Given the description of an element on the screen output the (x, y) to click on. 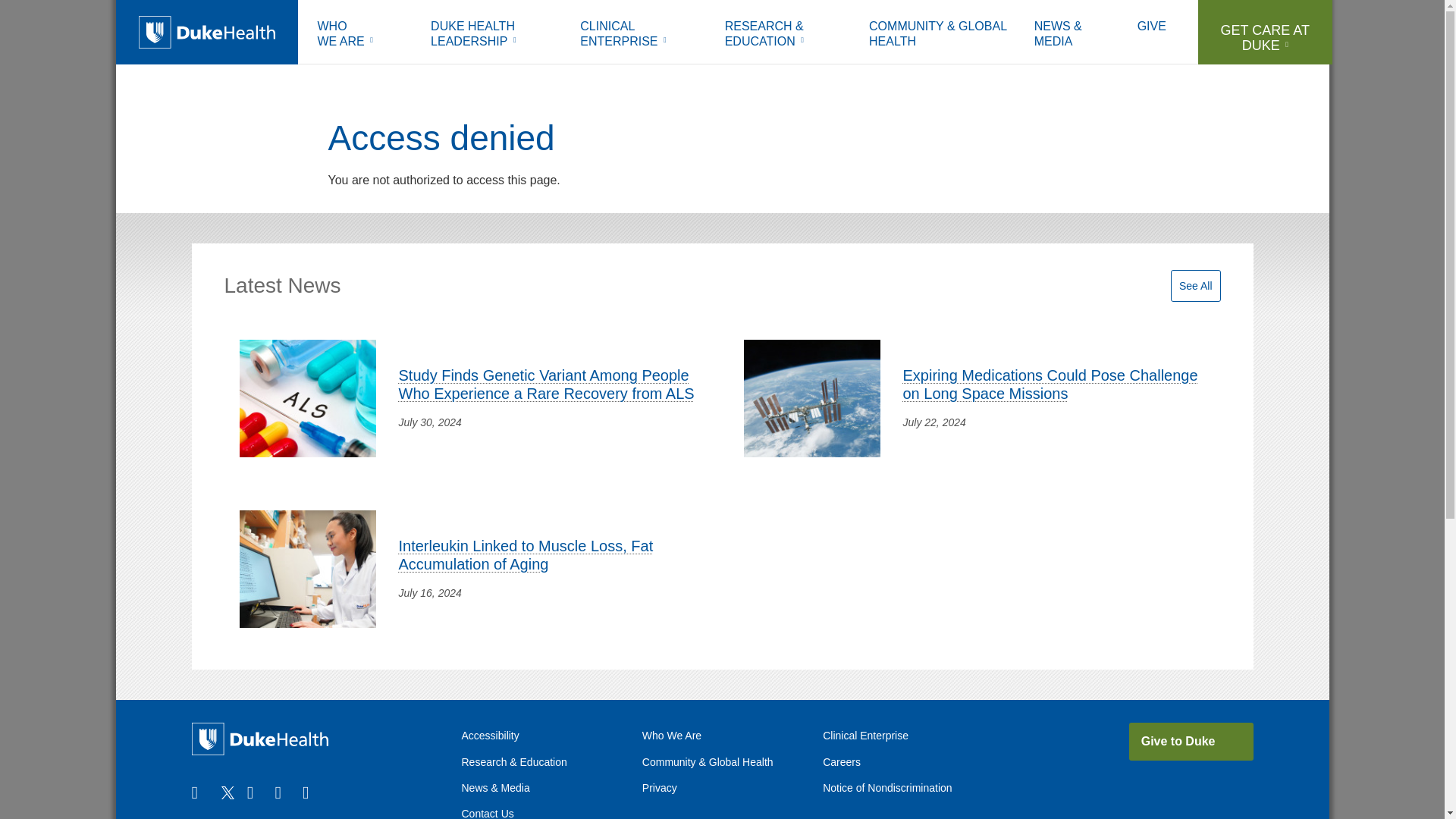
DUKE HEALTH LEADERSHIP (362, 35)
CLINICAL ENTERPRISE (494, 35)
